Given the description of an element on the screen output the (x, y) to click on. 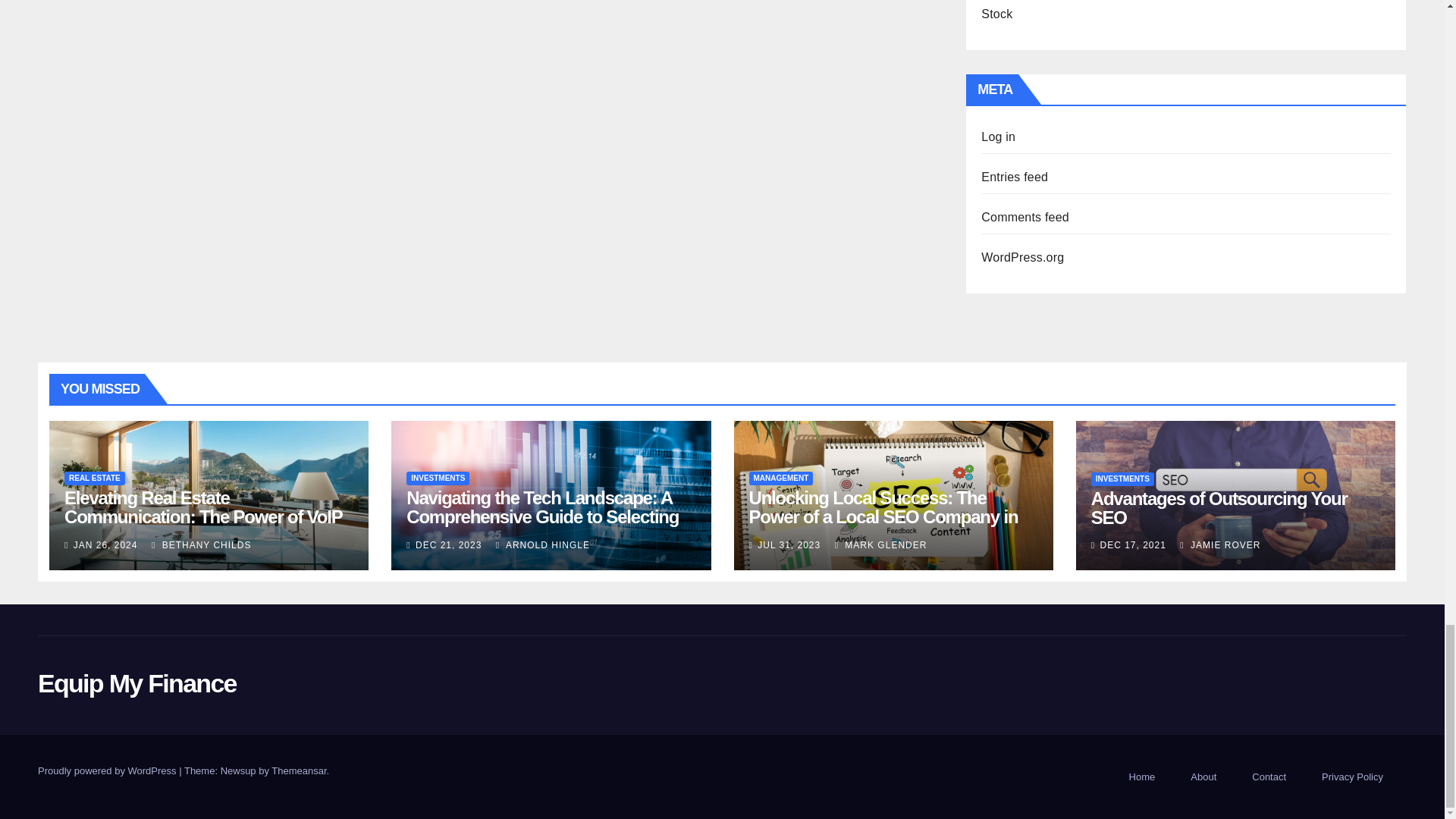
Permalink to: Advantages of Outsourcing Your SEO (1219, 507)
Home (1141, 776)
